Given the description of an element on the screen output the (x, y) to click on. 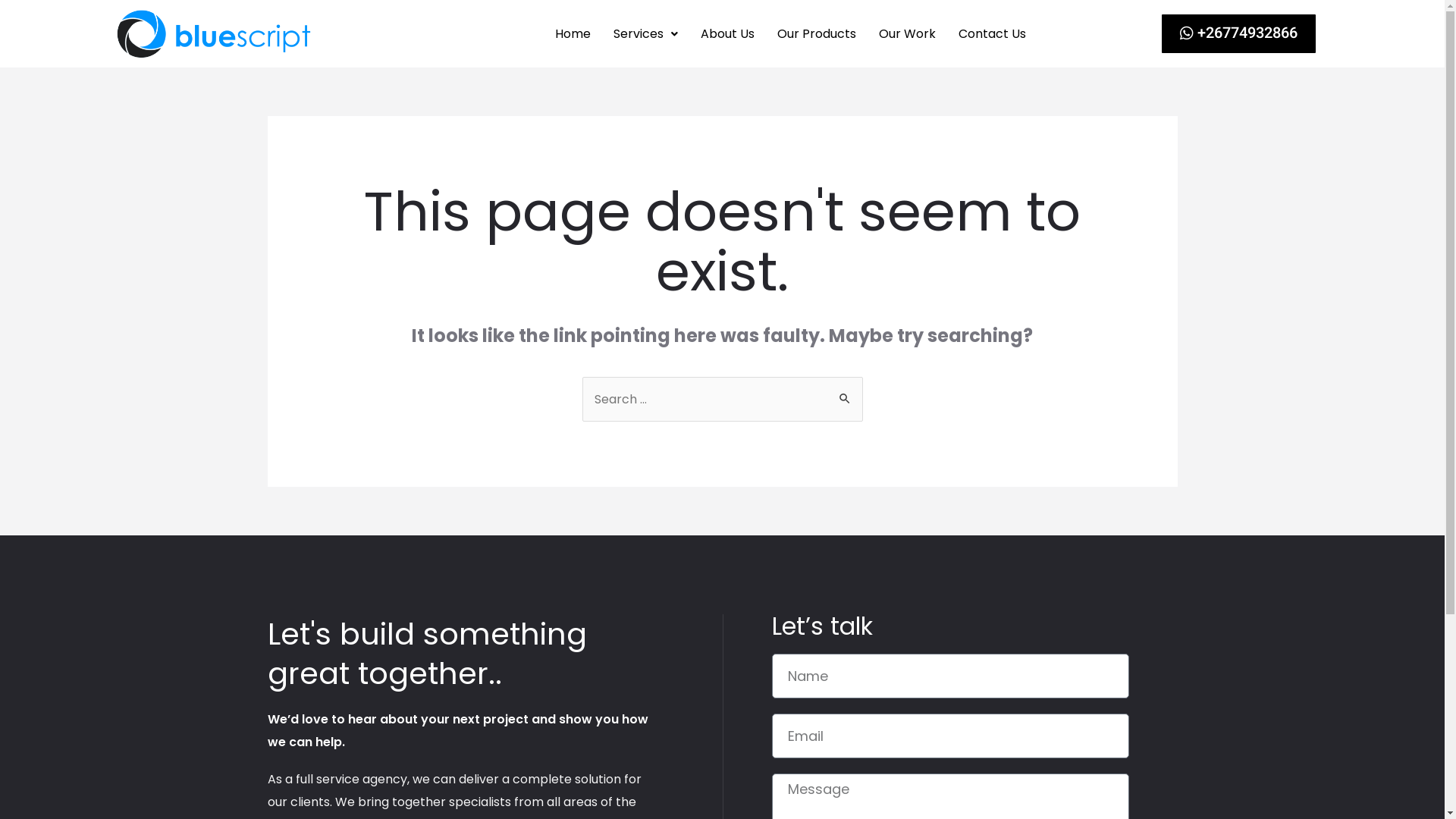
Contact Us Element type: text (992, 33)
Home Element type: text (572, 33)
+26774932866 Element type: text (1238, 33)
About Us Element type: text (727, 33)
Services Element type: text (645, 33)
Our Products Element type: text (816, 33)
Search Element type: text (845, 391)
Our Work Element type: text (907, 33)
